Given the description of an element on the screen output the (x, y) to click on. 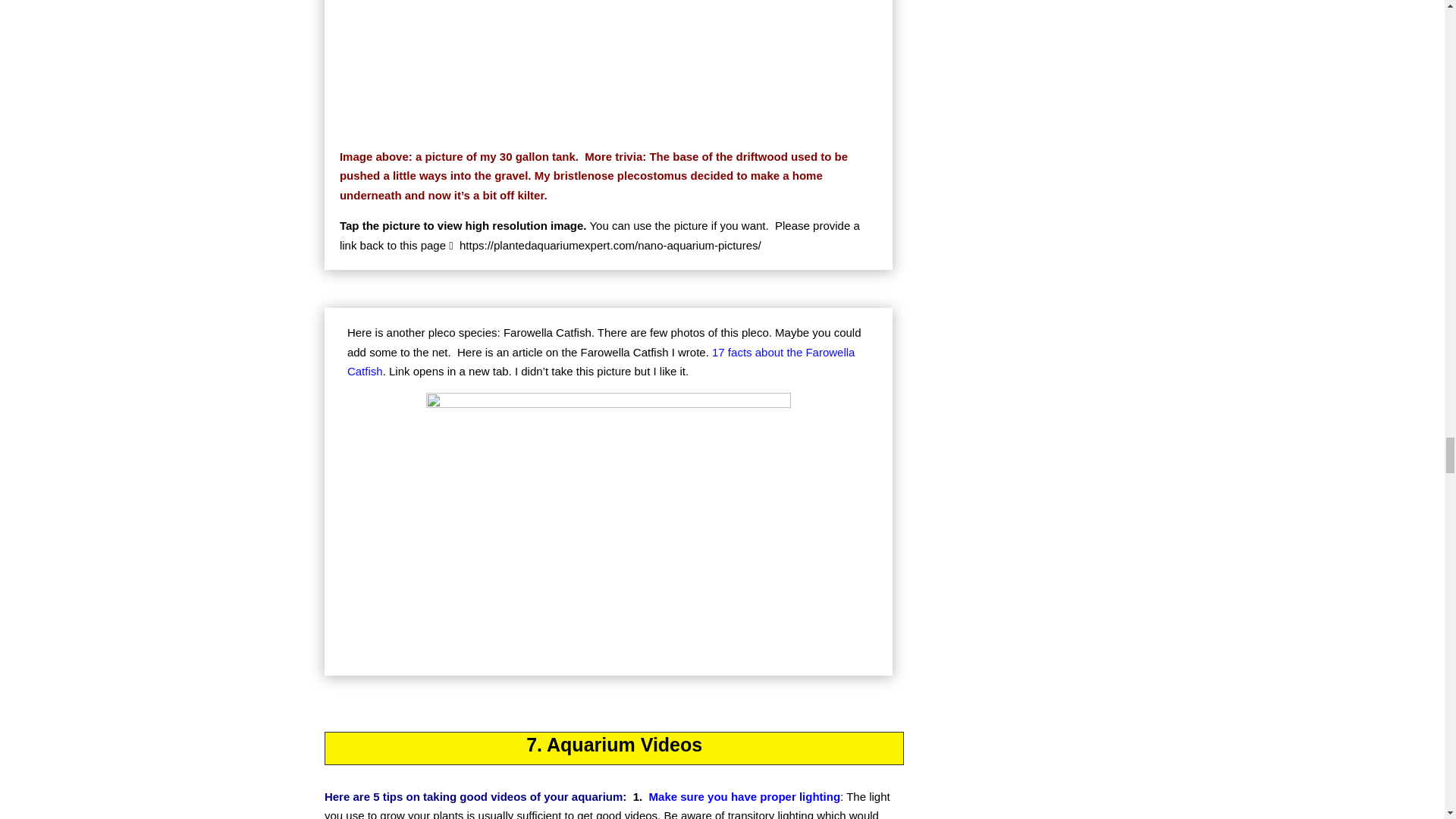
17 facts about the Farowella Catfish (601, 361)
